Given the description of an element on the screen output the (x, y) to click on. 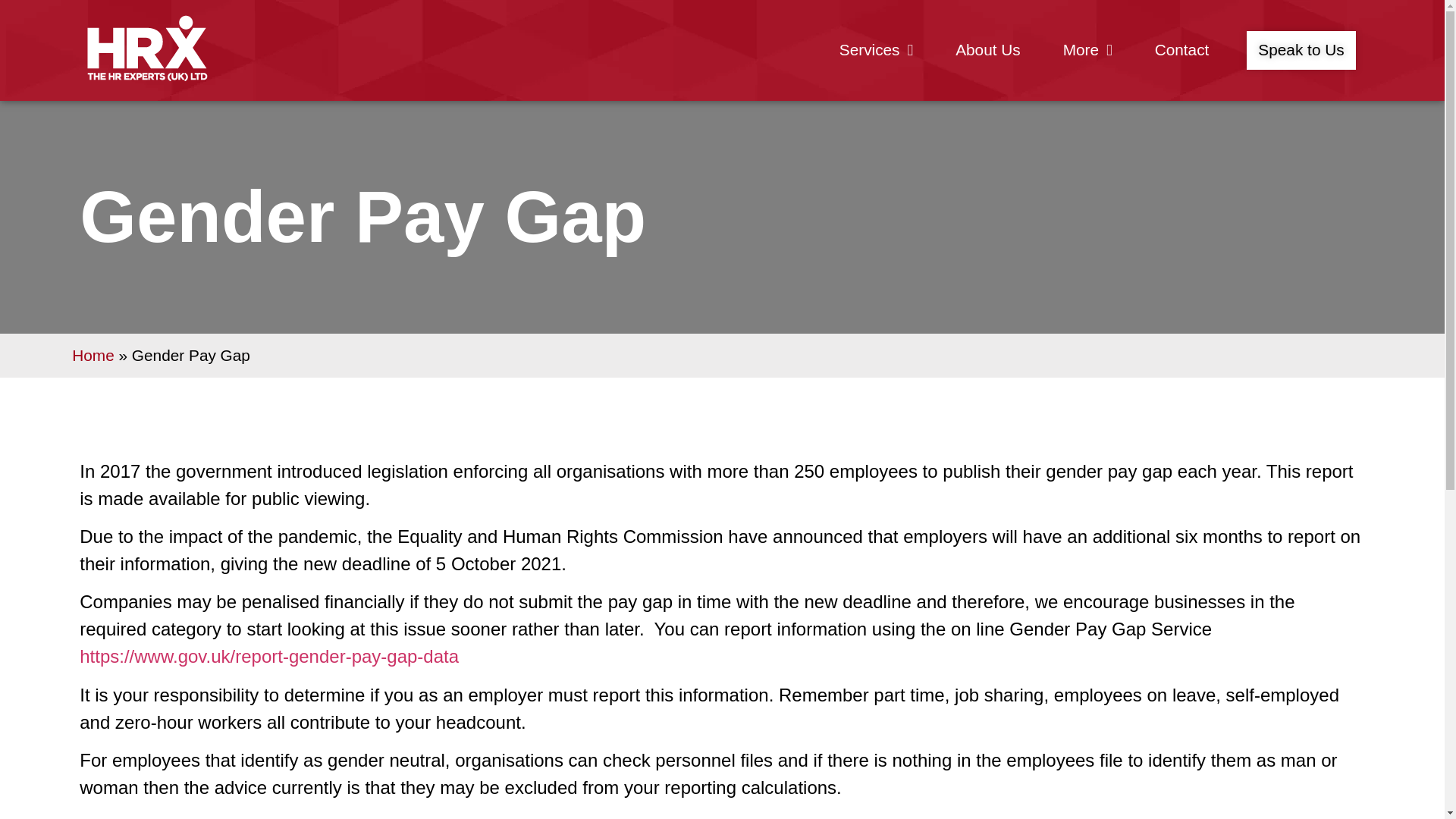
Speak to Us (1300, 50)
Contact (1182, 49)
About Us (987, 49)
More (1087, 49)
Services (875, 49)
